Given the description of an element on the screen output the (x, y) to click on. 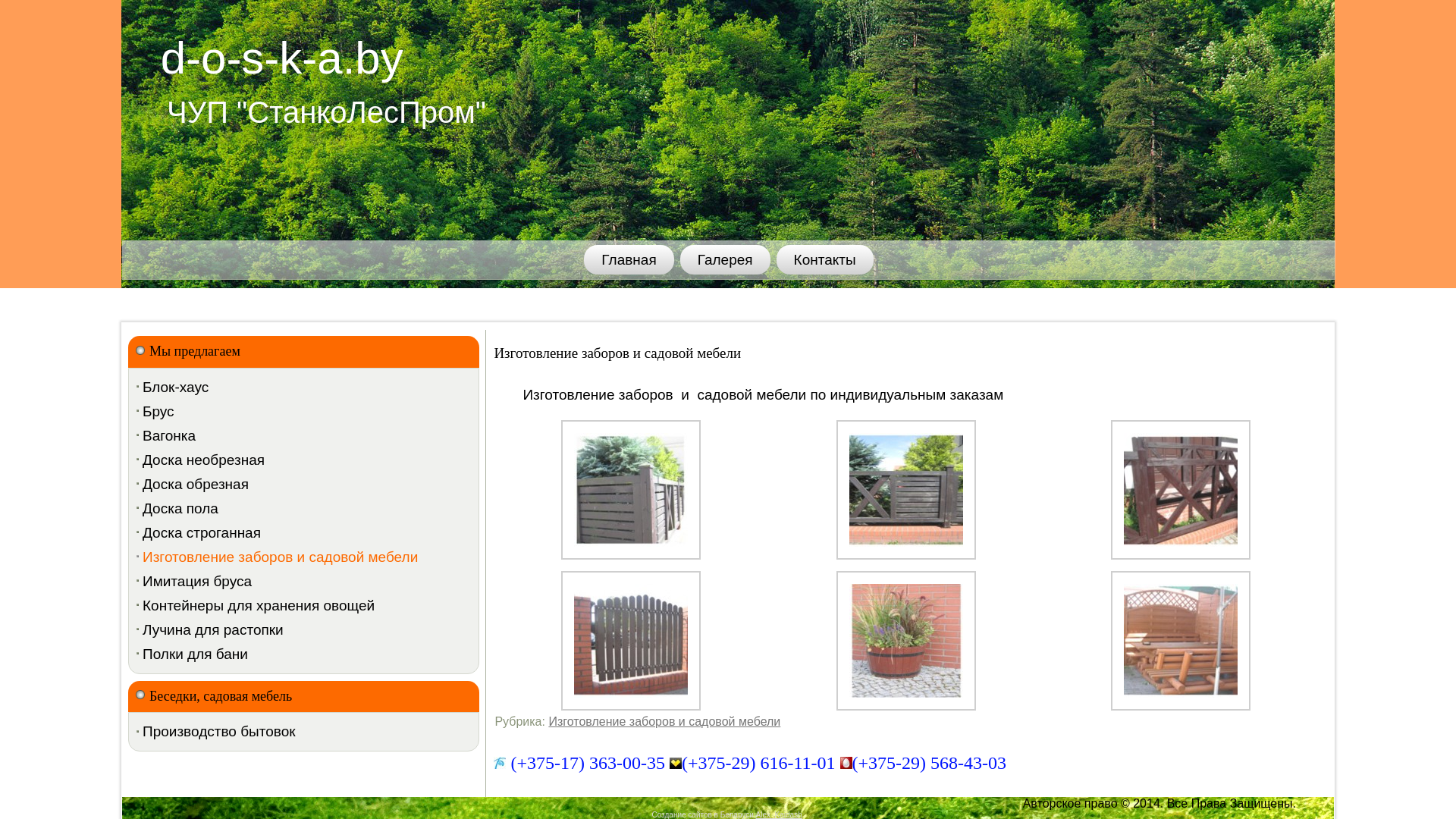
(+375-29) 616-11-01 Element type: text (758, 762)
d-o-s-k-a.by Element type: text (281, 57)
(+375-17) 363-00-35 Element type: text (587, 762)
(+375-29) 568-43-03 Element type: text (929, 762)
